Given the description of an element on the screen output the (x, y) to click on. 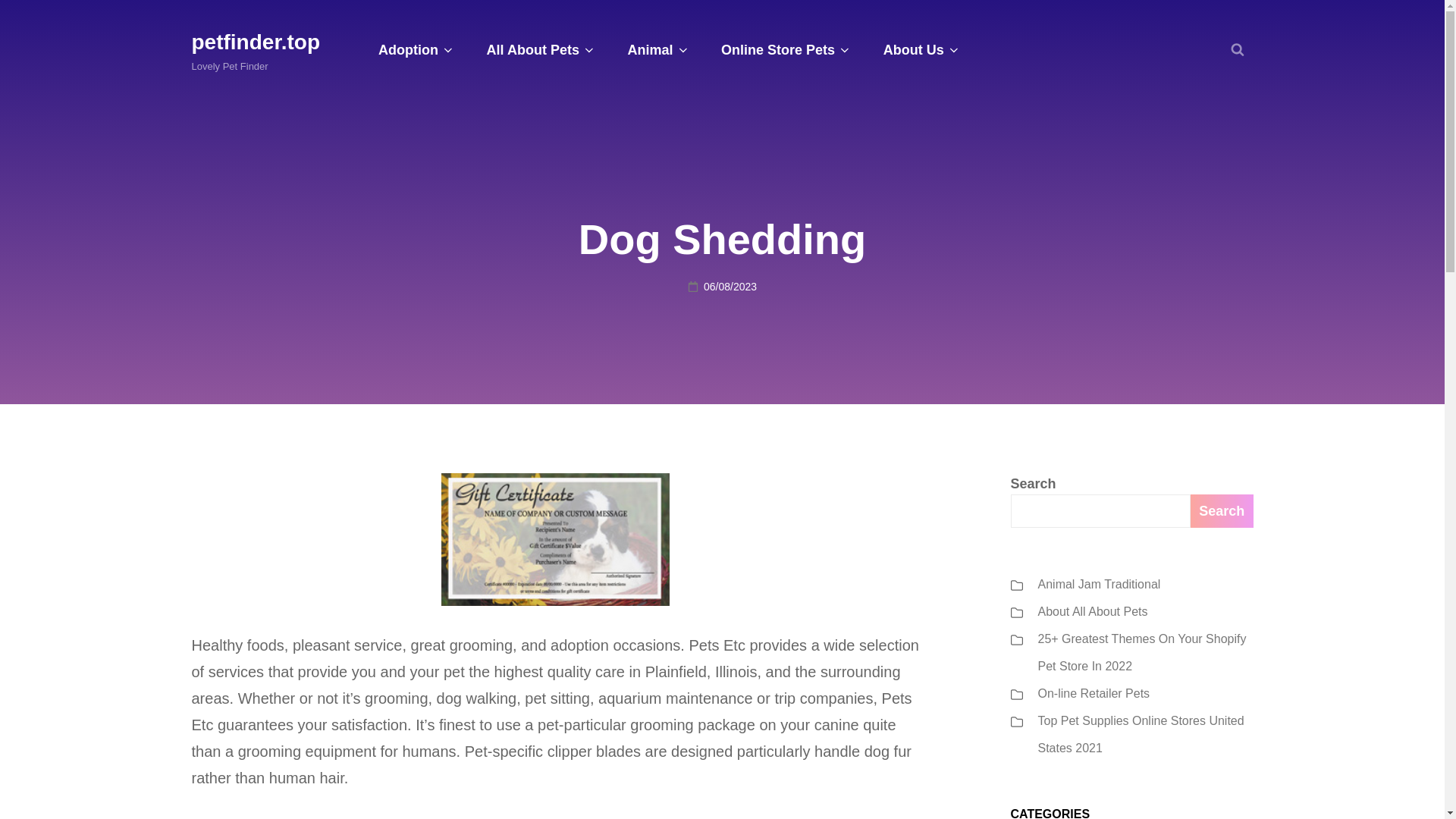
Adoption (414, 49)
petfinder.top (255, 42)
Animal (656, 49)
Online Store Pets (784, 49)
About Us (919, 49)
All About Pets (539, 49)
